Given the description of an element on the screen output the (x, y) to click on. 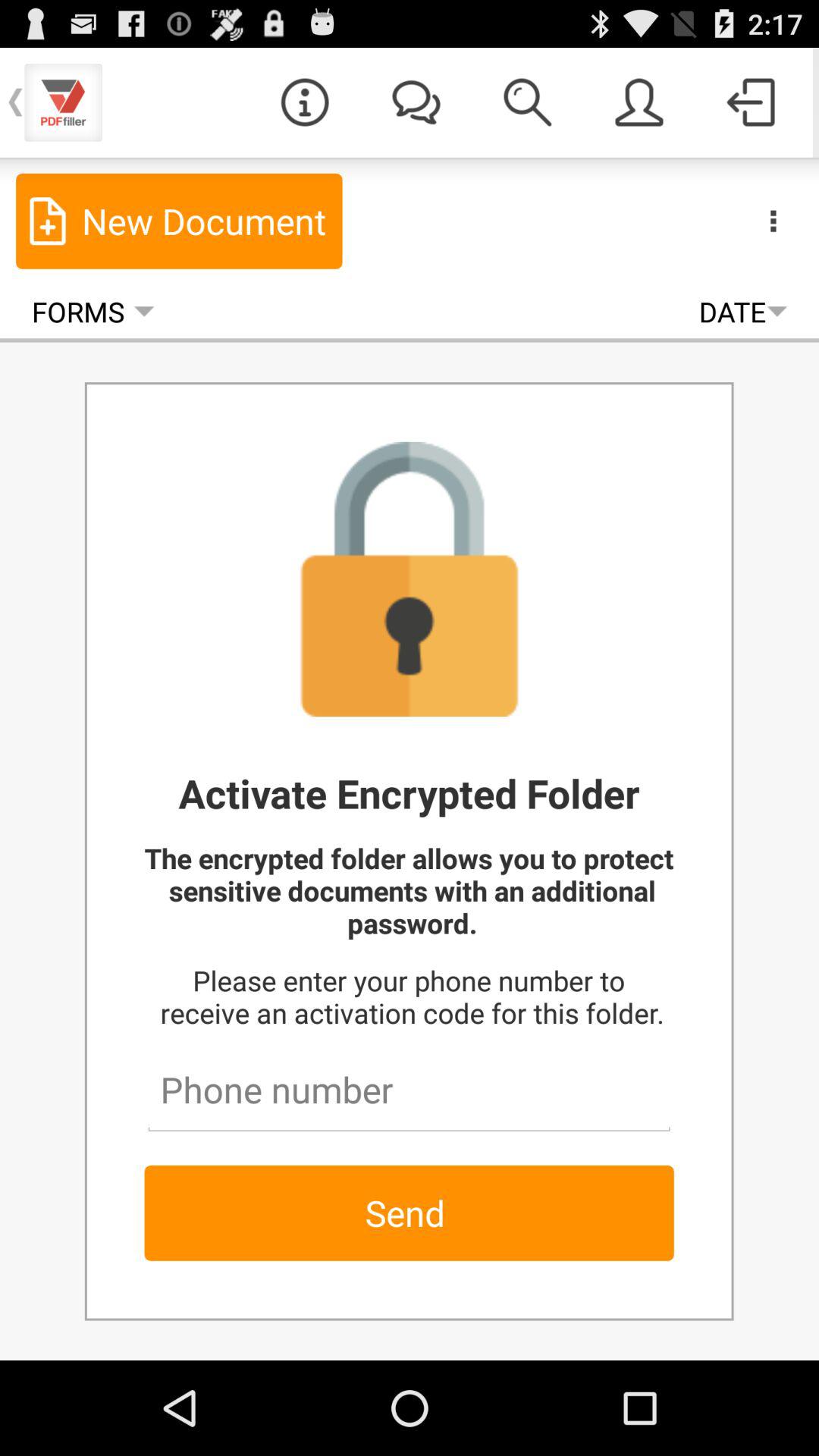
tap send item (408, 1212)
